Given the description of an element on the screen output the (x, y) to click on. 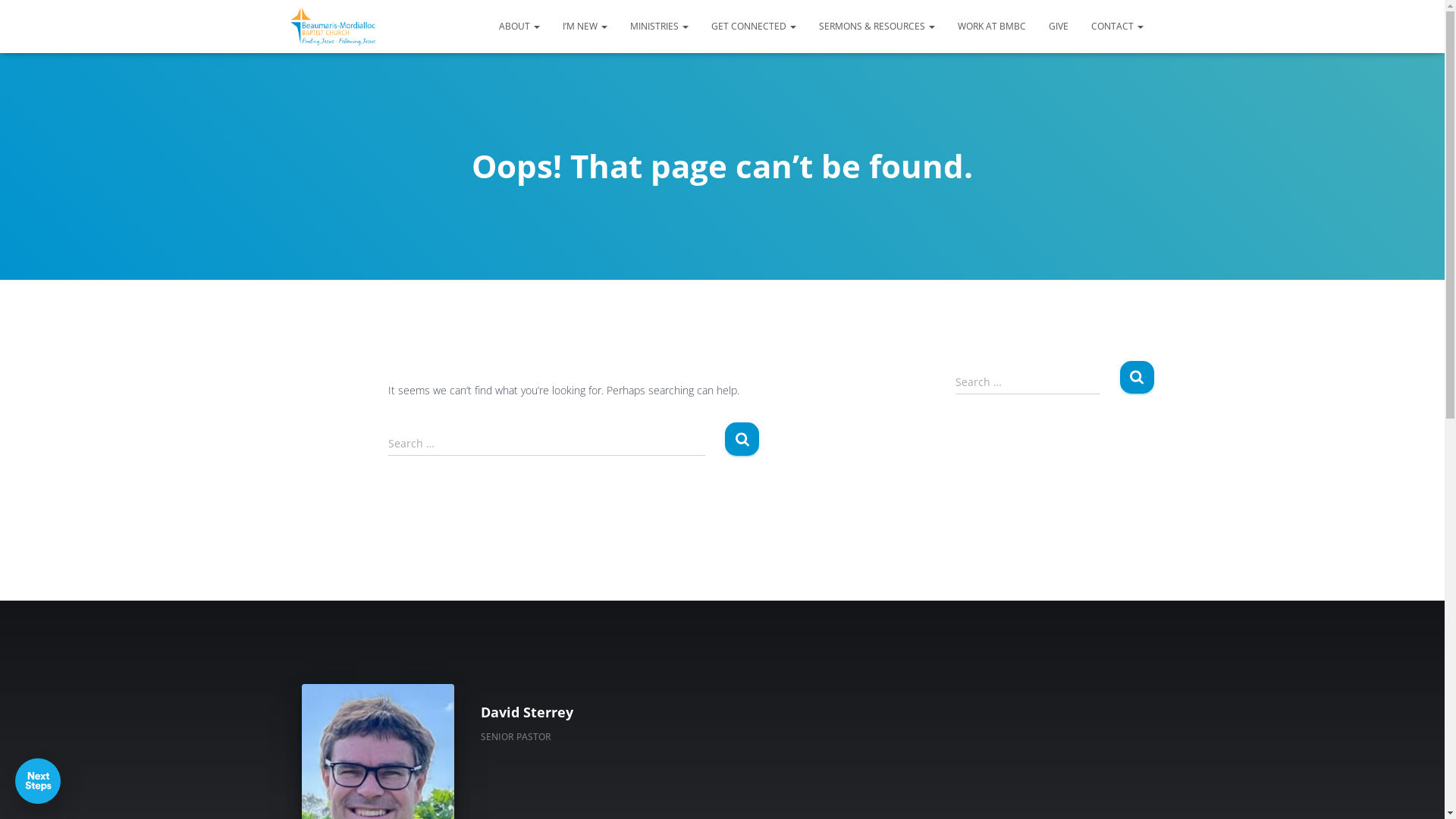
GET CONNECTED Element type: text (752, 26)
Search Element type: text (741, 438)
CONTACT Element type: text (1116, 26)
WORK AT BMBC Element type: text (991, 26)
Search Element type: text (1136, 376)
Beaumaris-Mordialloc Baptist Church Element type: hover (333, 26)
MINISTRIES Element type: text (658, 26)
ABOUT Element type: text (518, 26)
SERMONS & RESOURCES Element type: text (875, 26)
GIVE Element type: text (1058, 26)
